Given the description of an element on the screen output the (x, y) to click on. 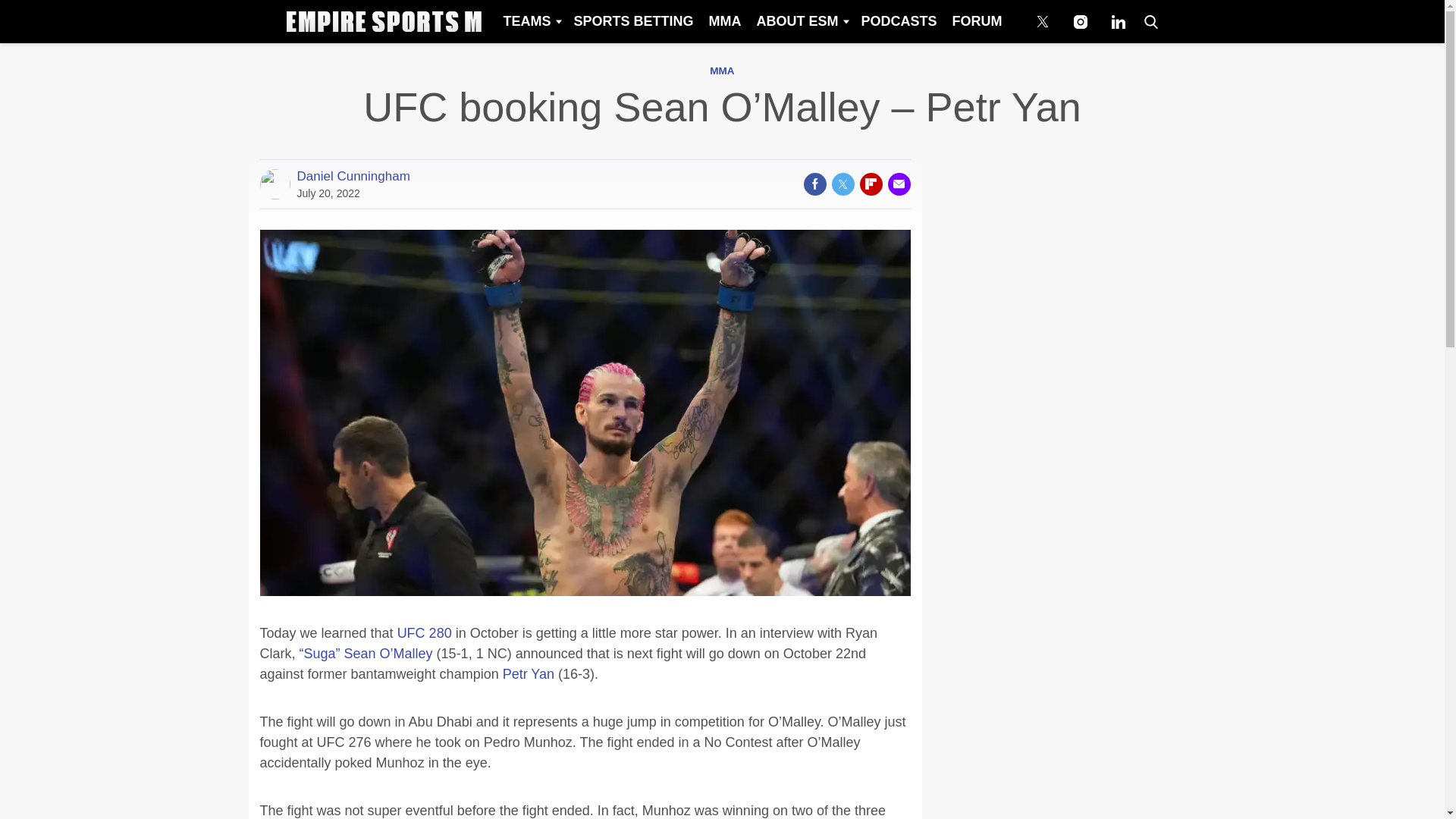
SPORTS BETTING (633, 21)
Daniel Cunningham (353, 176)
PODCASTS (898, 21)
FORUM (977, 21)
MMA (724, 21)
UFC 280 (424, 632)
Share on Flipboard (871, 183)
Share on Twitter (842, 183)
Share via Email (898, 183)
MMA (721, 70)
